Given the description of an element on the screen output the (x, y) to click on. 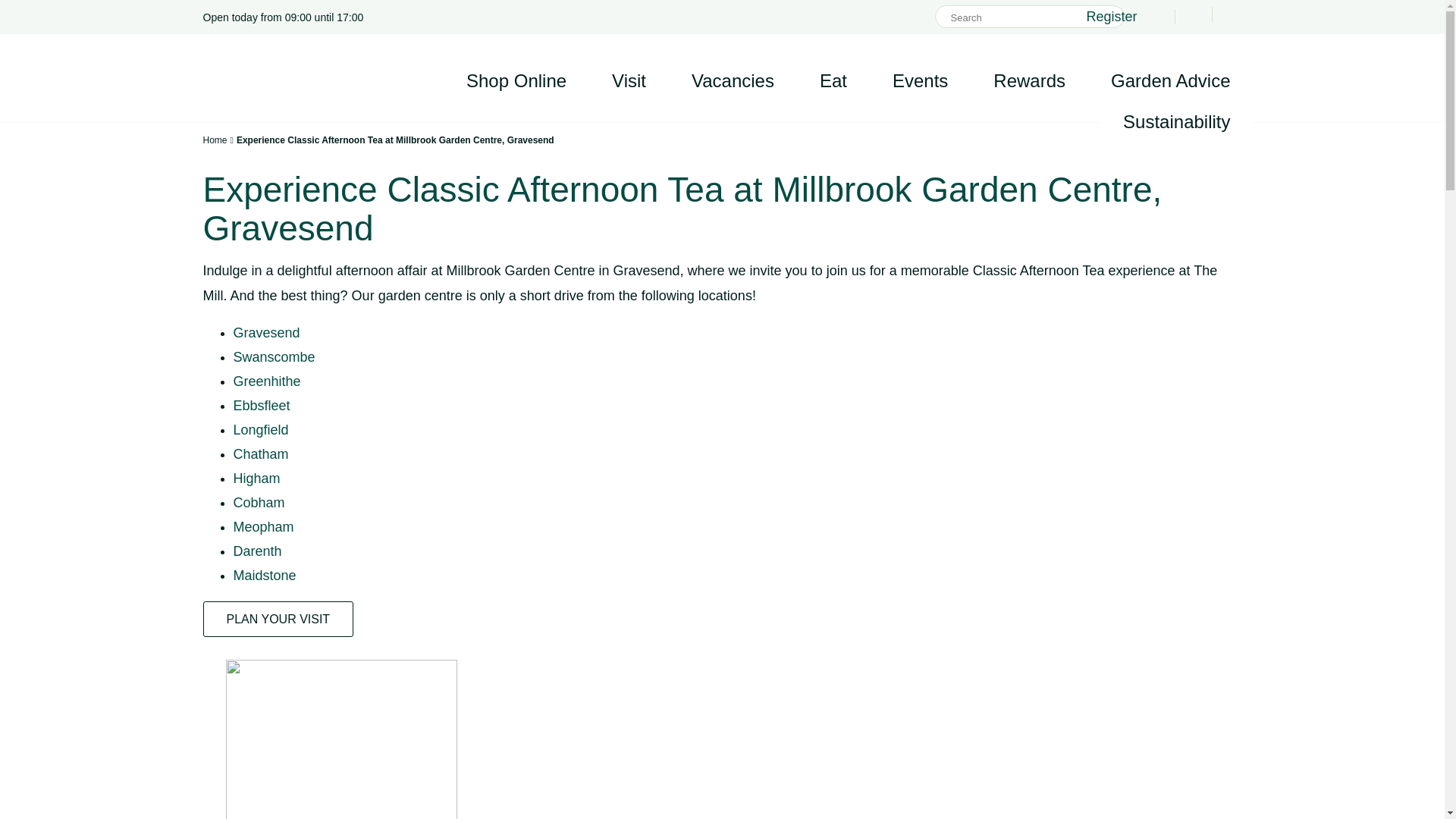
Register (1111, 15)
Go to the barrow (1230, 14)
Eat (832, 80)
Search (1098, 15)
Shop (516, 80)
Millbrook Garden Centres in Staplehurst and Gravesend (259, 77)
Register (1111, 15)
Home (215, 140)
Vacancies (732, 80)
Shop Online (516, 80)
Visit (628, 80)
Sign in (1154, 15)
Home (215, 140)
